Given the description of an element on the screen output the (x, y) to click on. 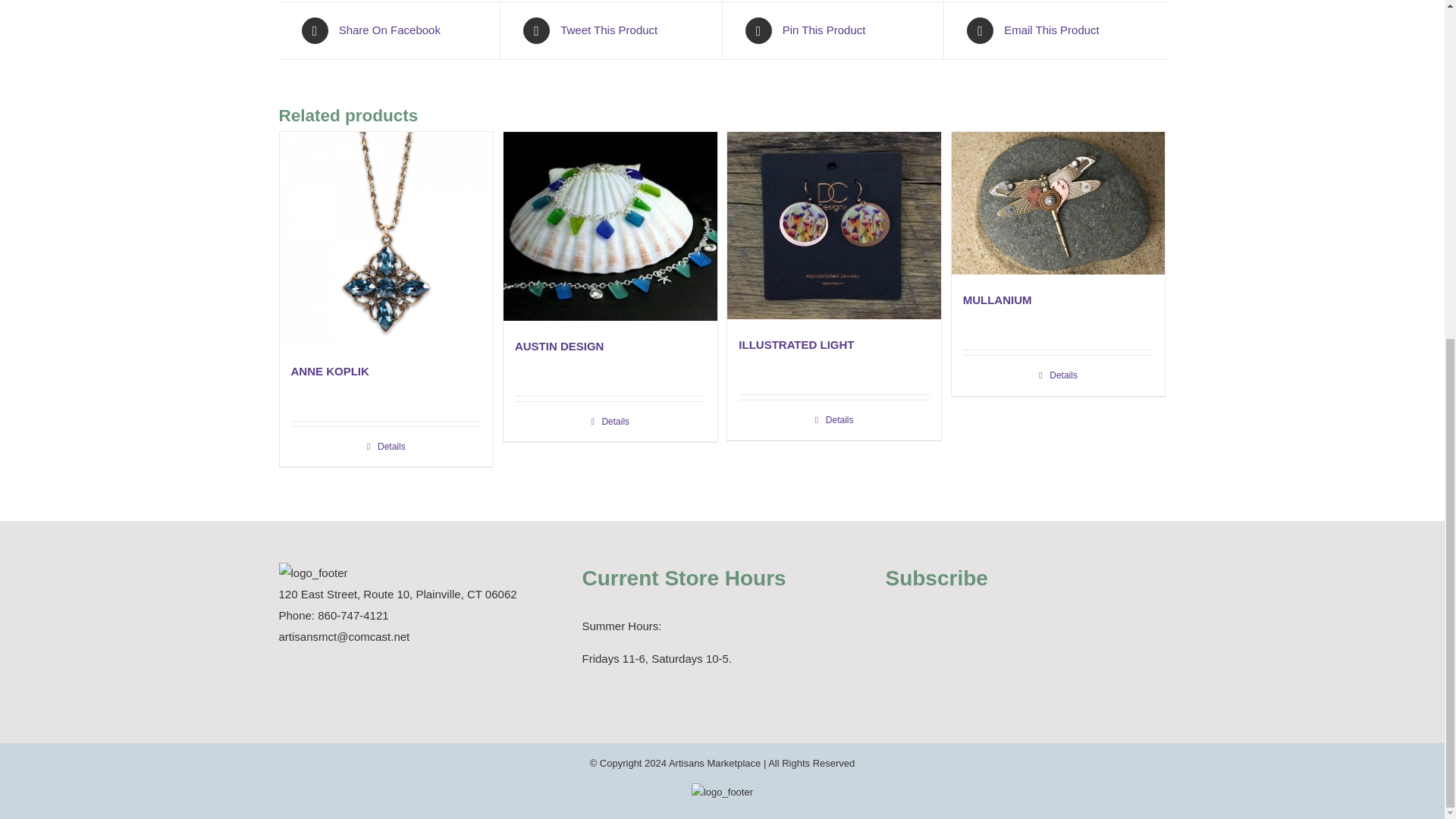
Email This Product (1054, 30)
ANNE KOPLIK (330, 370)
Details (386, 446)
Share On Facebook (389, 30)
Tweet This Product (610, 30)
Pin This Product (832, 30)
